Given the description of an element on the screen output the (x, y) to click on. 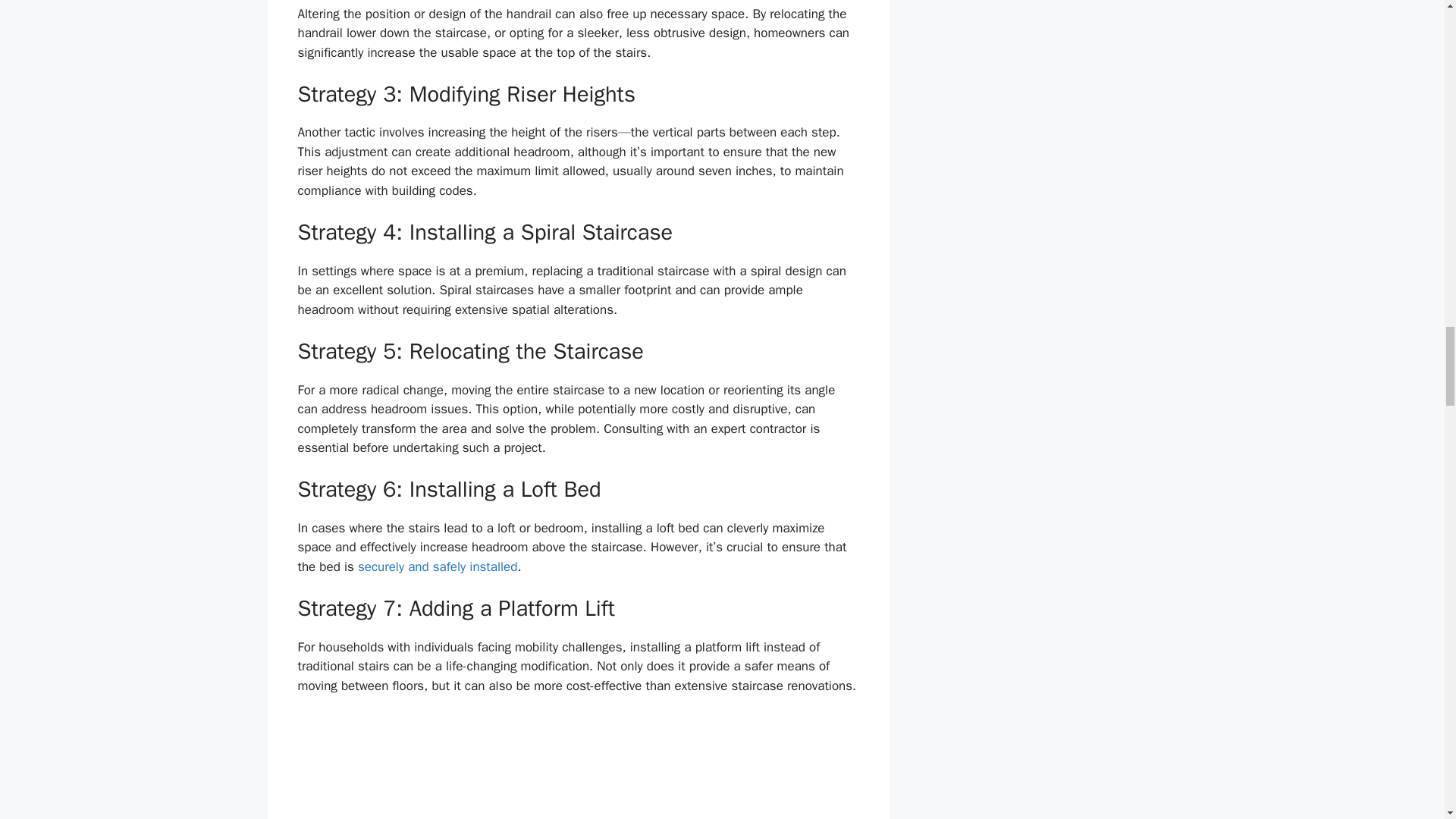
securely and safely installed (437, 566)
